Given the description of an element on the screen output the (x, y) to click on. 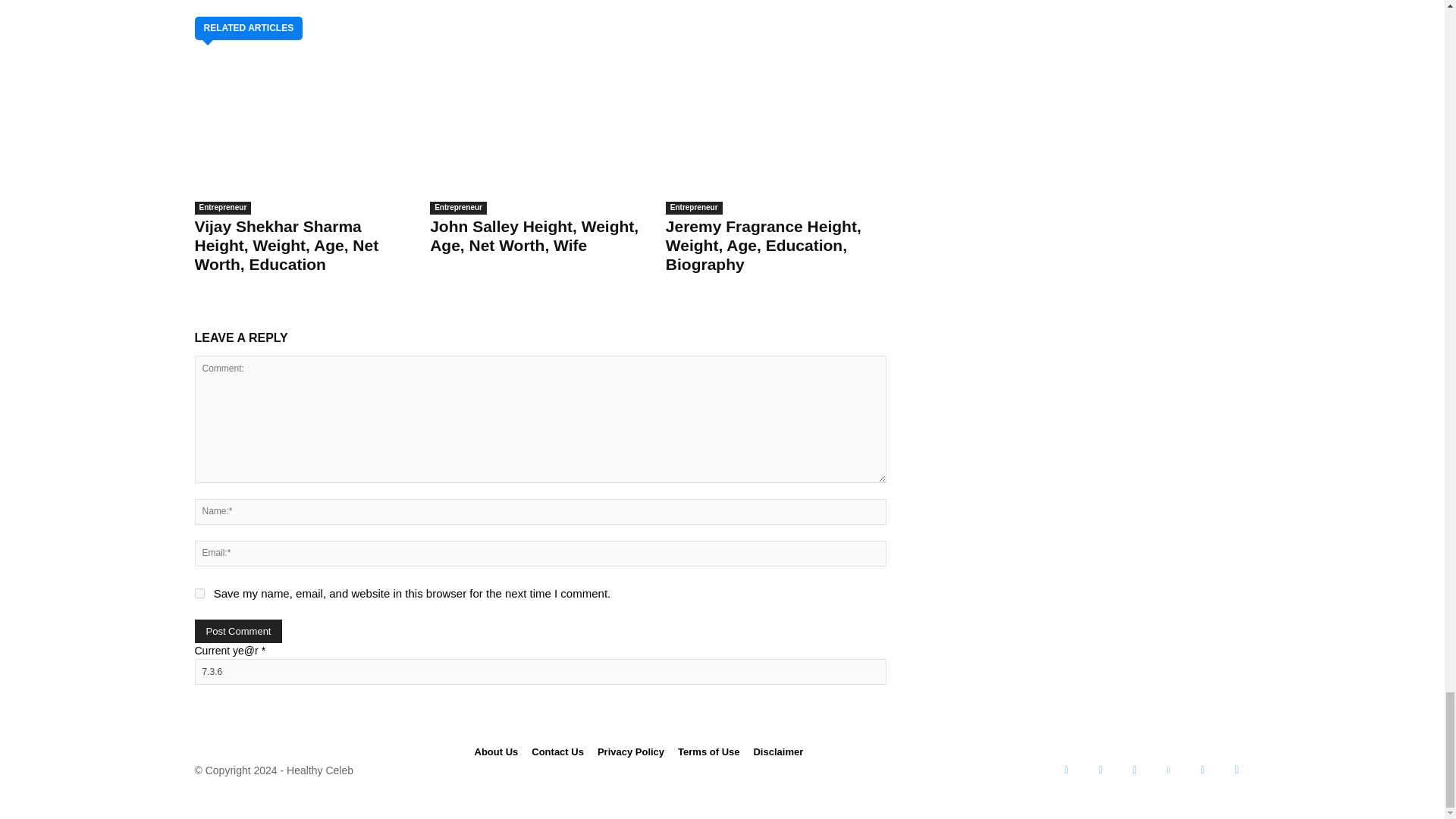
Post Comment (237, 630)
yes (198, 593)
7.3.6 (539, 671)
